Given the description of an element on the screen output the (x, y) to click on. 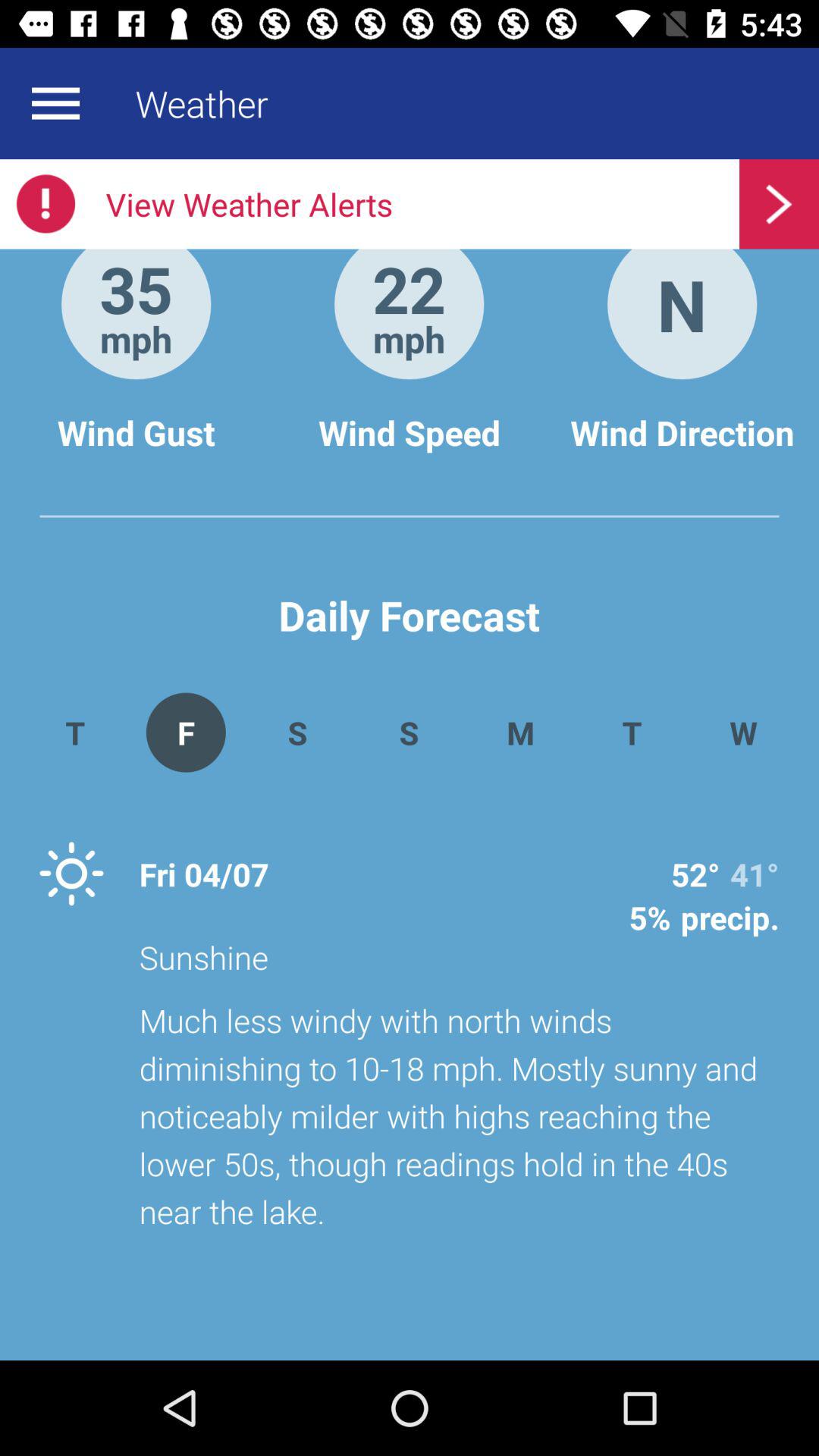
launch icon next to the t (743, 732)
